Given the description of an element on the screen output the (x, y) to click on. 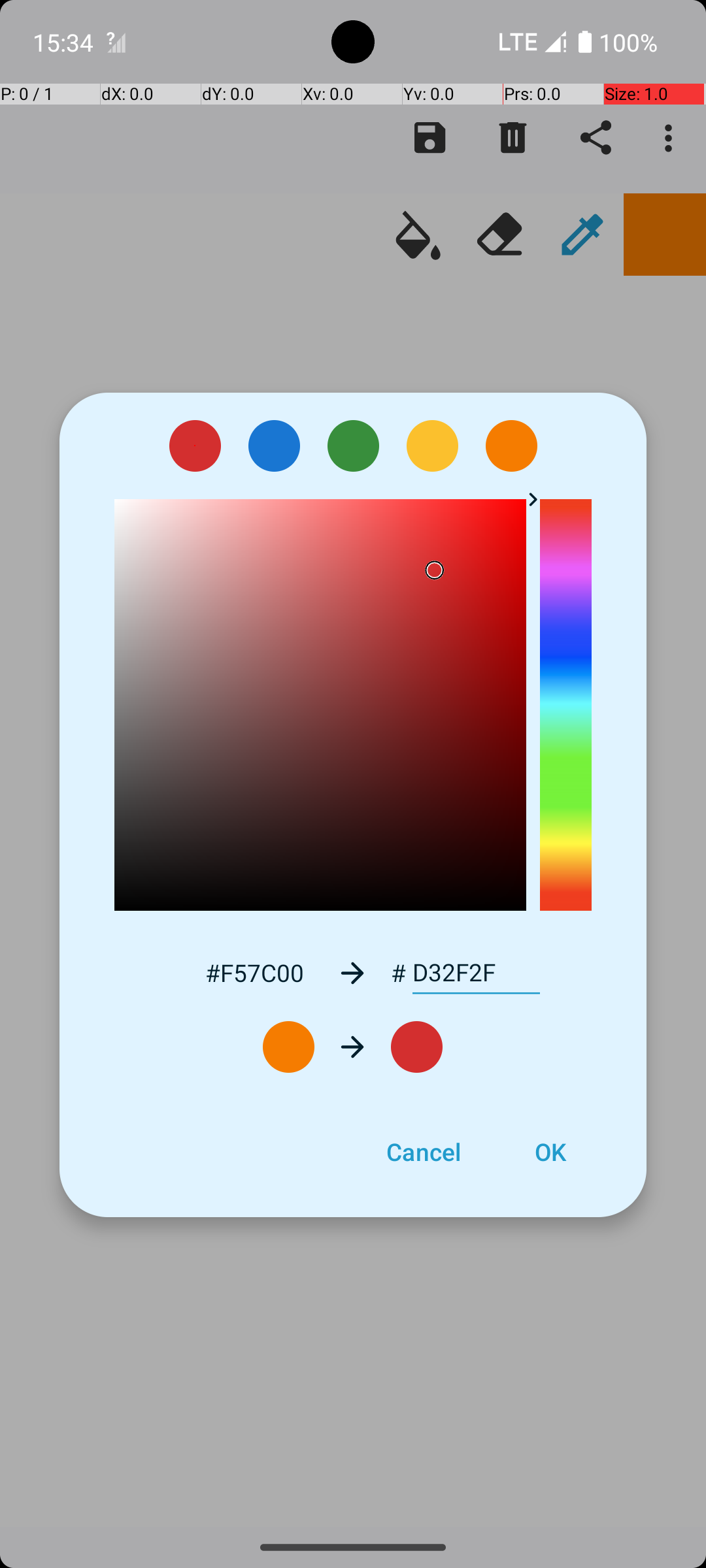
#F57C00 Element type: android.widget.TextView (254, 972)
D32F2F Element type: android.widget.EditText (475, 972)
